Given the description of an element on the screen output the (x, y) to click on. 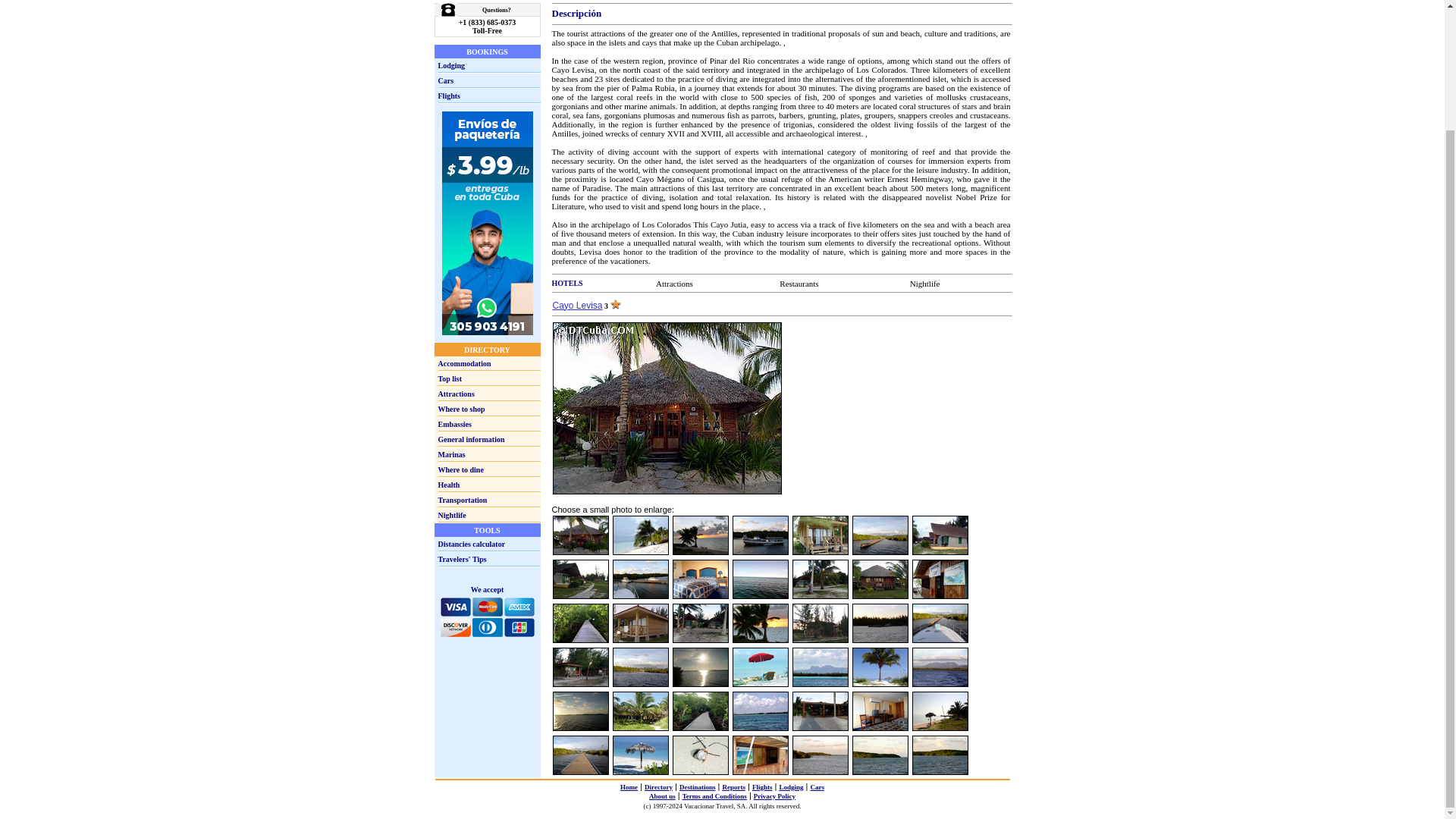
Cayo Levisa (576, 305)
Lodging (451, 64)
Where to shop (461, 408)
Attractions (674, 283)
Embassies (454, 424)
Health (449, 484)
General information (471, 438)
Transportation (462, 500)
Top list (450, 378)
Where to dine (460, 470)
